Given the description of an element on the screen output the (x, y) to click on. 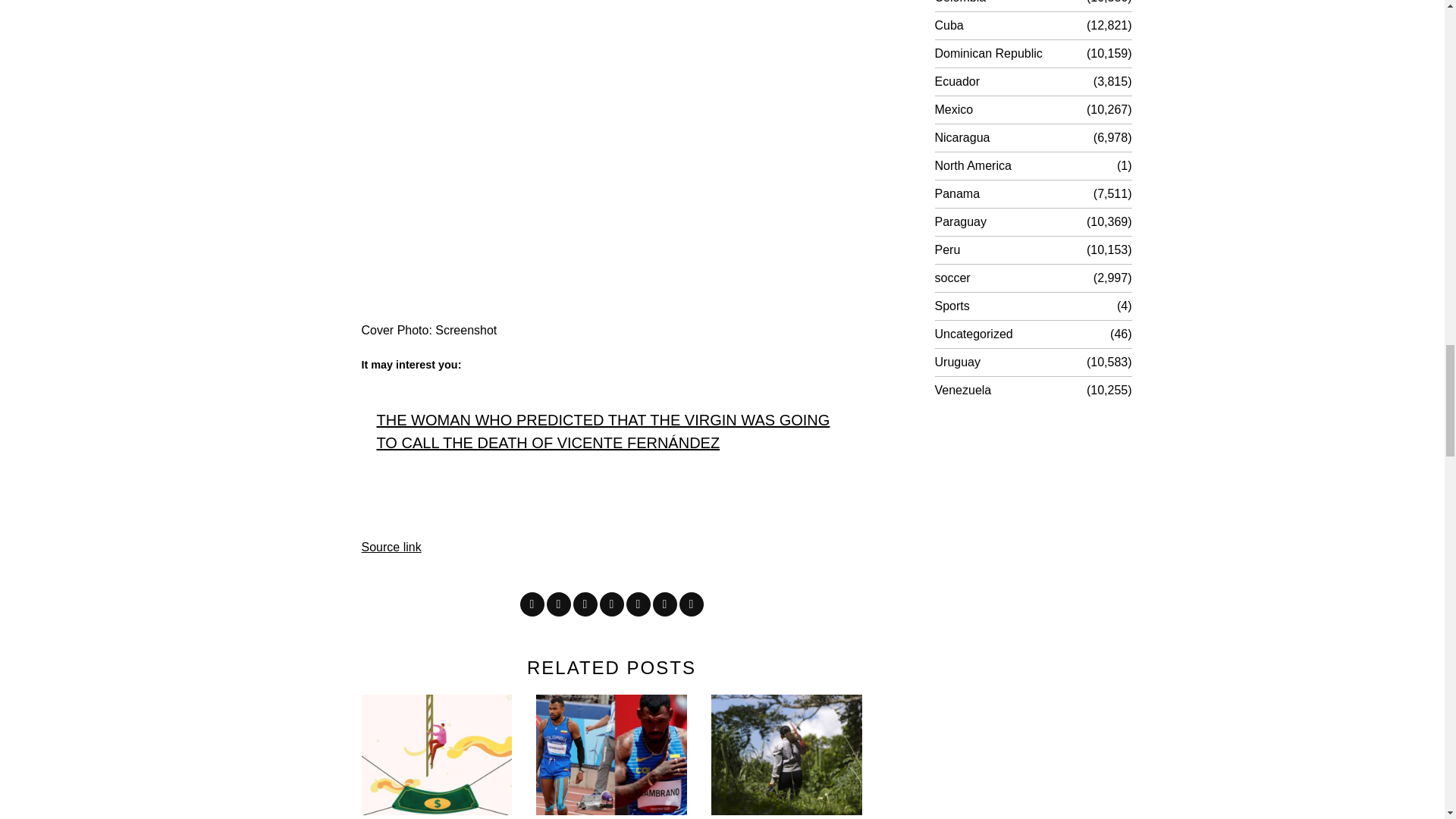
Source link (390, 546)
